Given the description of an element on the screen output the (x, y) to click on. 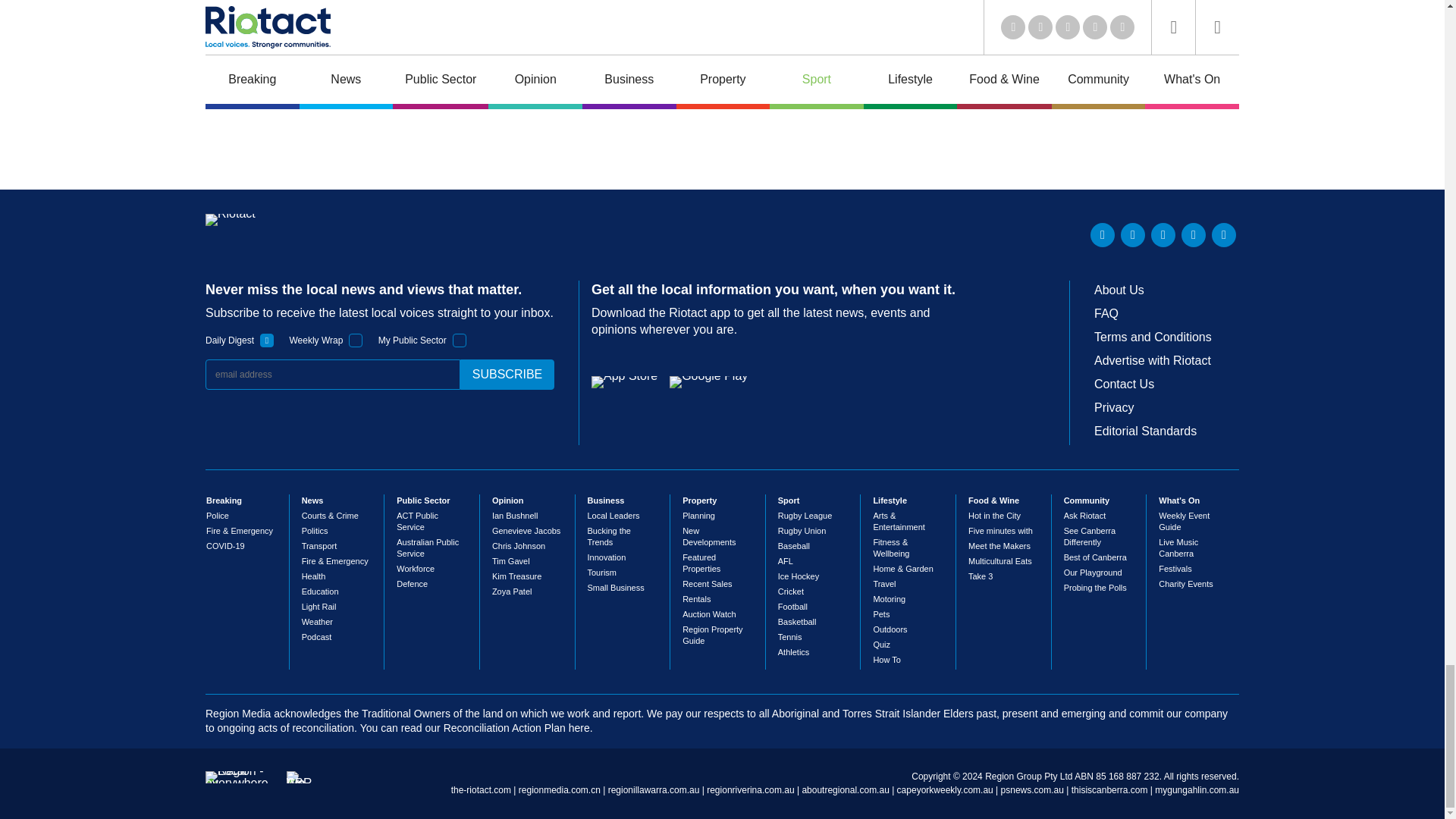
1 (355, 340)
1 (266, 340)
subscribe (507, 374)
Twitter (1132, 234)
LinkedIn (1102, 234)
1 (458, 340)
